Given the description of an element on the screen output the (x, y) to click on. 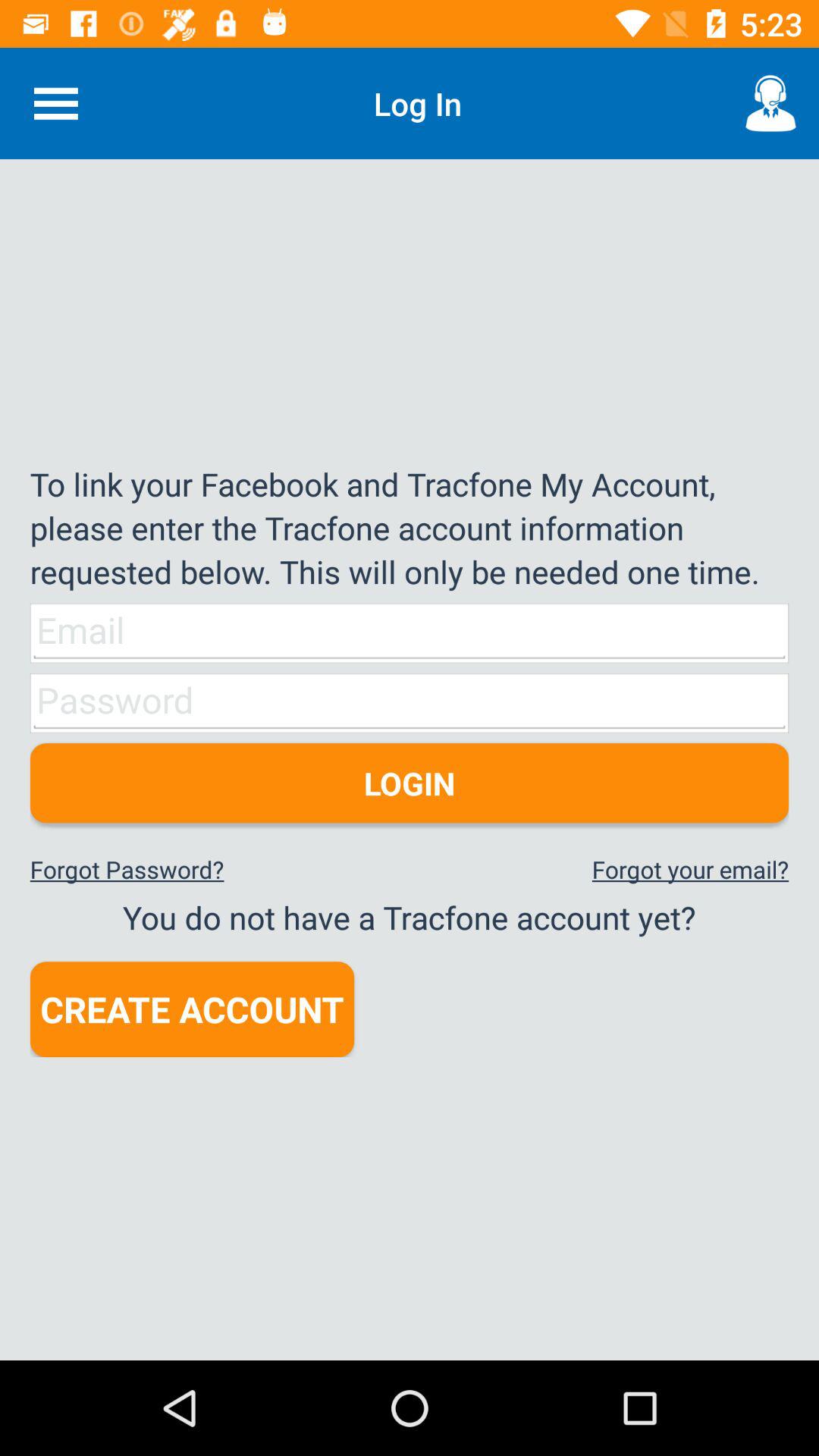
choose item above to link your item (55, 103)
